Given the description of an element on the screen output the (x, y) to click on. 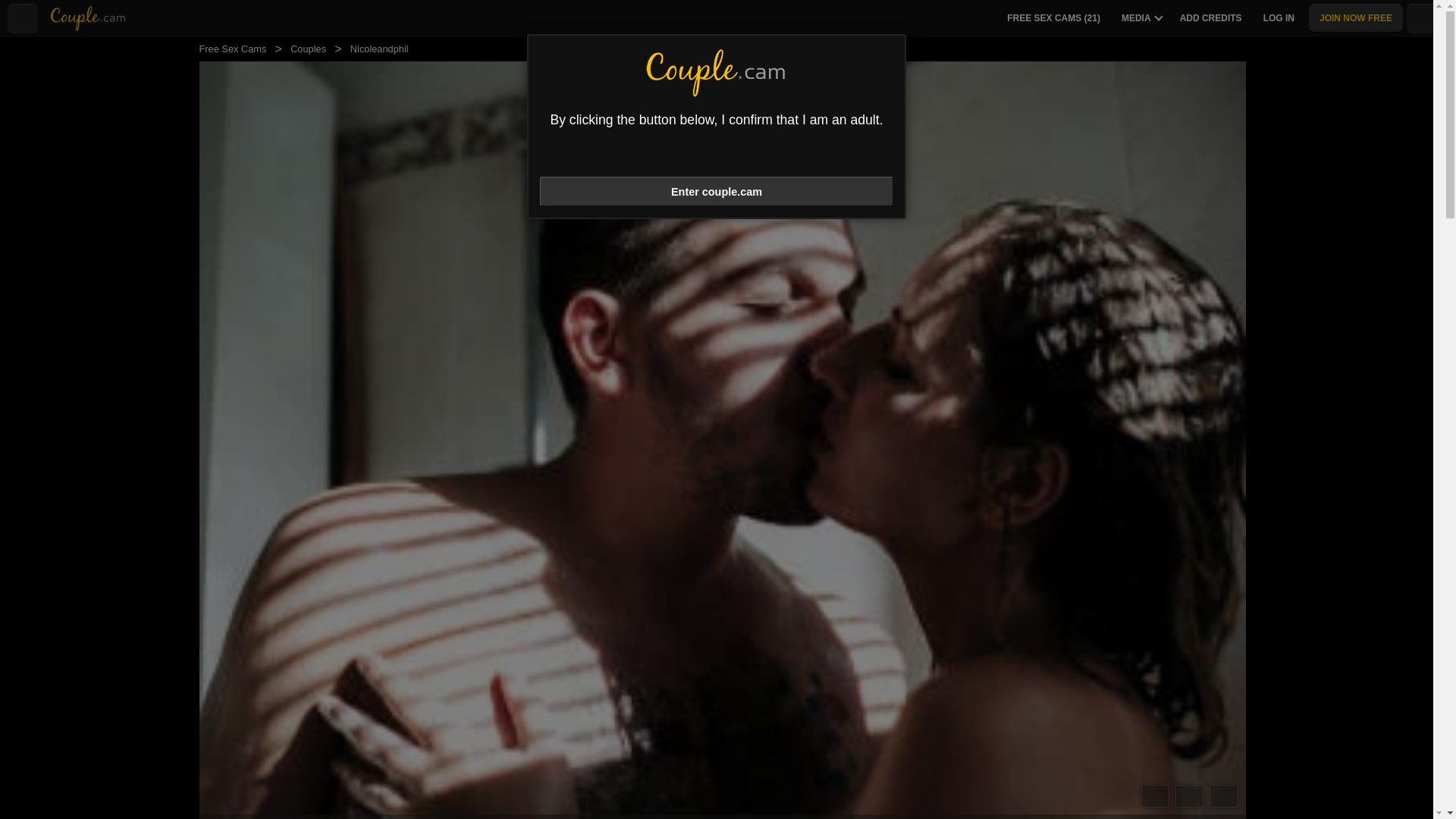
JOIN NOW FREE (1355, 18)
Free Sex Cams (232, 48)
LOG IN (1278, 18)
MEDIA (1135, 18)
Couples (307, 48)
ADD CREDITS (1210, 18)
